Given the description of an element on the screen output the (x, y) to click on. 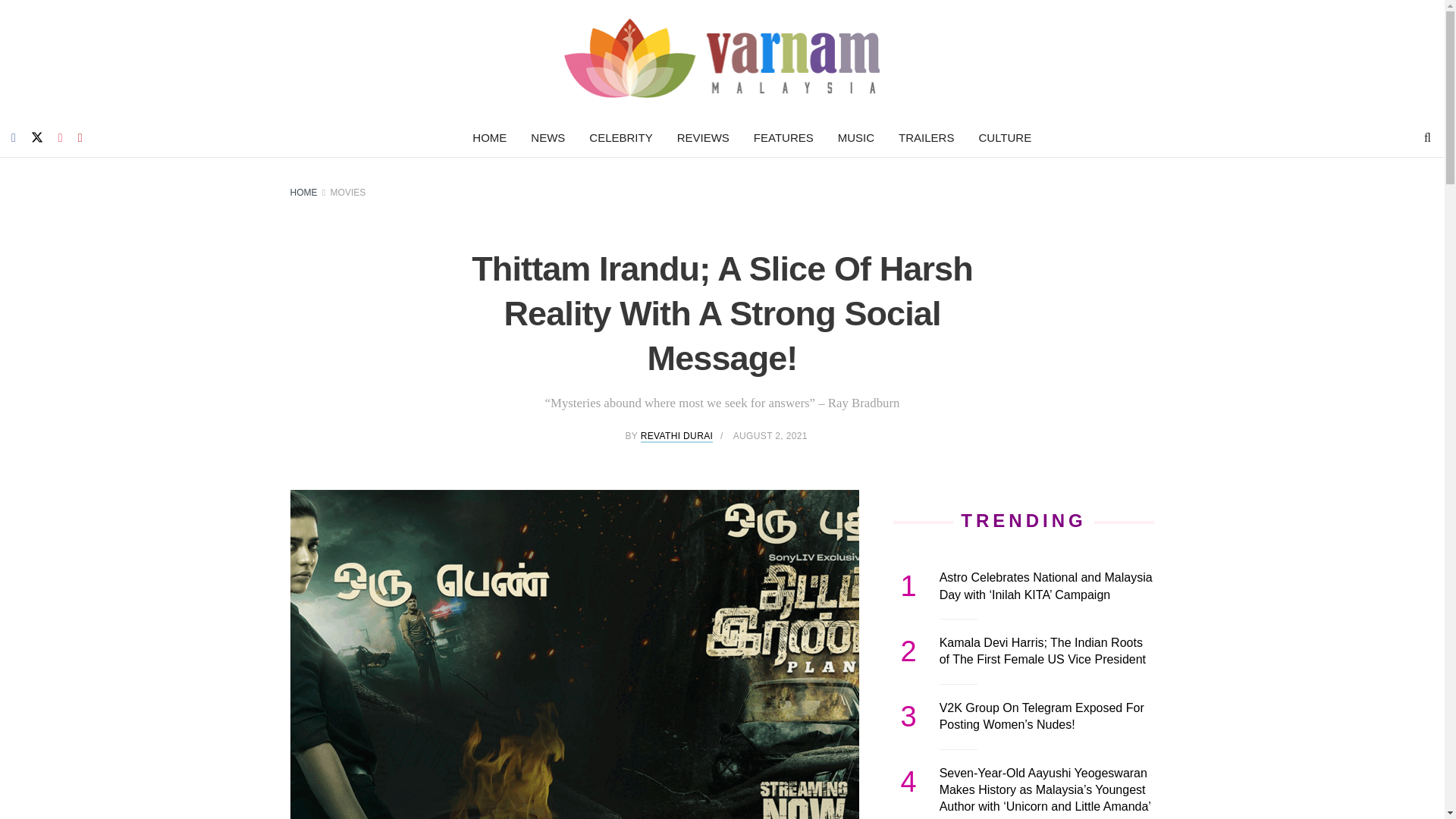
MUSIC (855, 137)
CELEBRITY (619, 137)
REVATHI DURAI (676, 436)
REVIEWS (703, 137)
TRAILERS (926, 137)
NEWS (547, 137)
AUGUST 2, 2021 (770, 435)
FEATURES (783, 137)
HOME (303, 192)
MOVIES (348, 192)
